Given the description of an element on the screen output the (x, y) to click on. 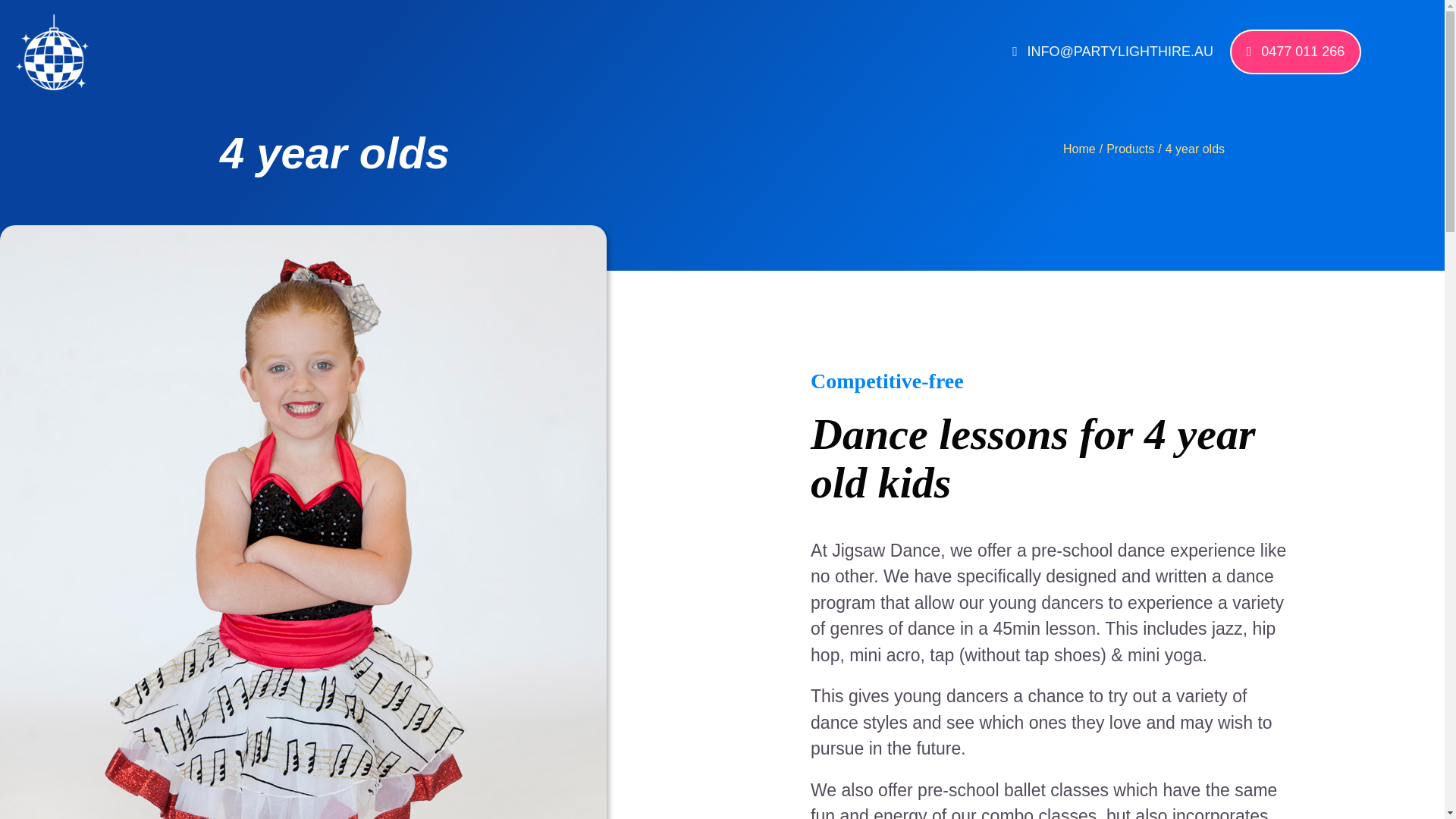
Home (1079, 148)
0477 011 266 (1295, 51)
Products (1130, 148)
